Given the description of an element on the screen output the (x, y) to click on. 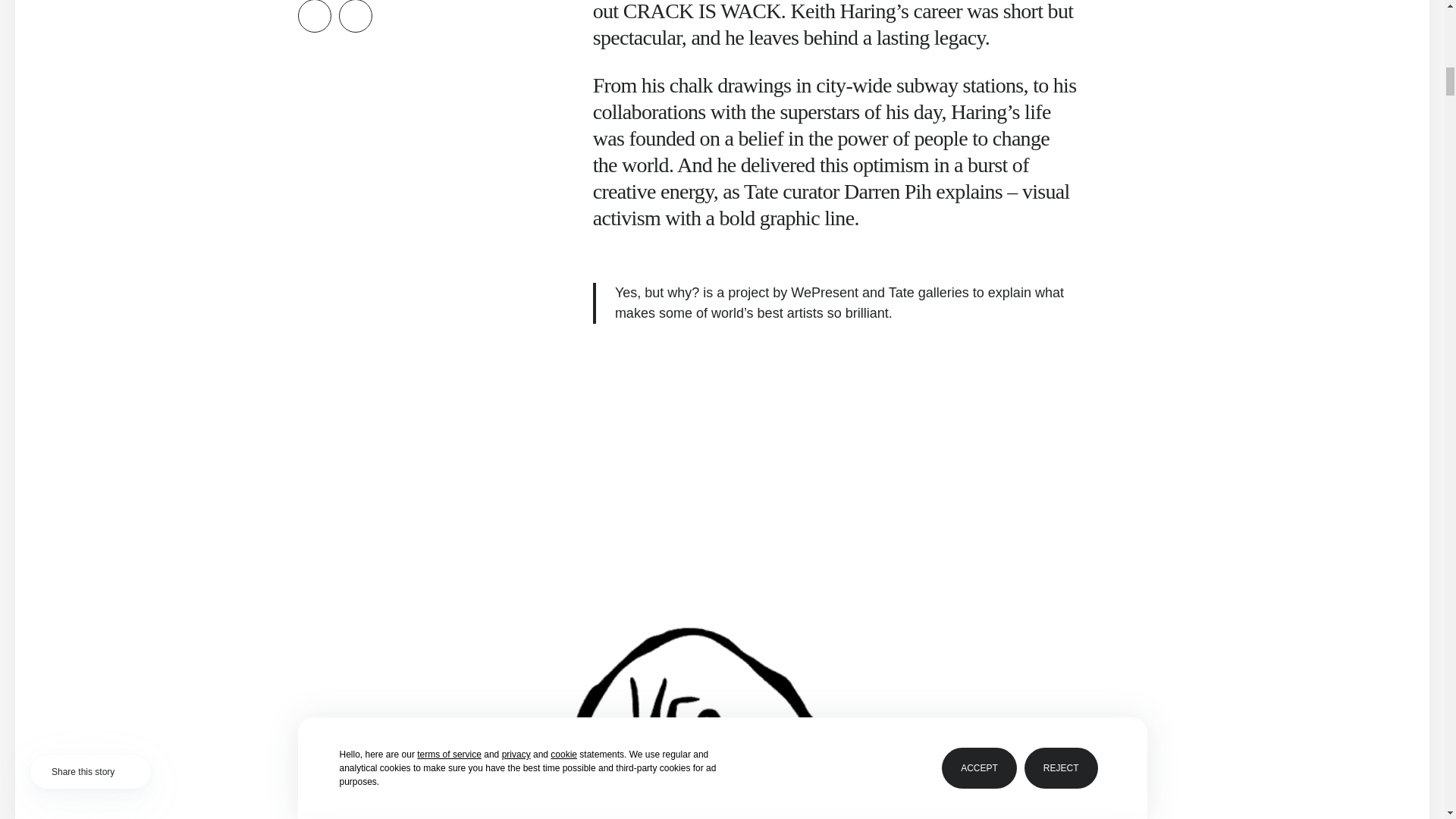
Tate (901, 292)
Yes, but why? (656, 292)
